Given the description of an element on the screen output the (x, y) to click on. 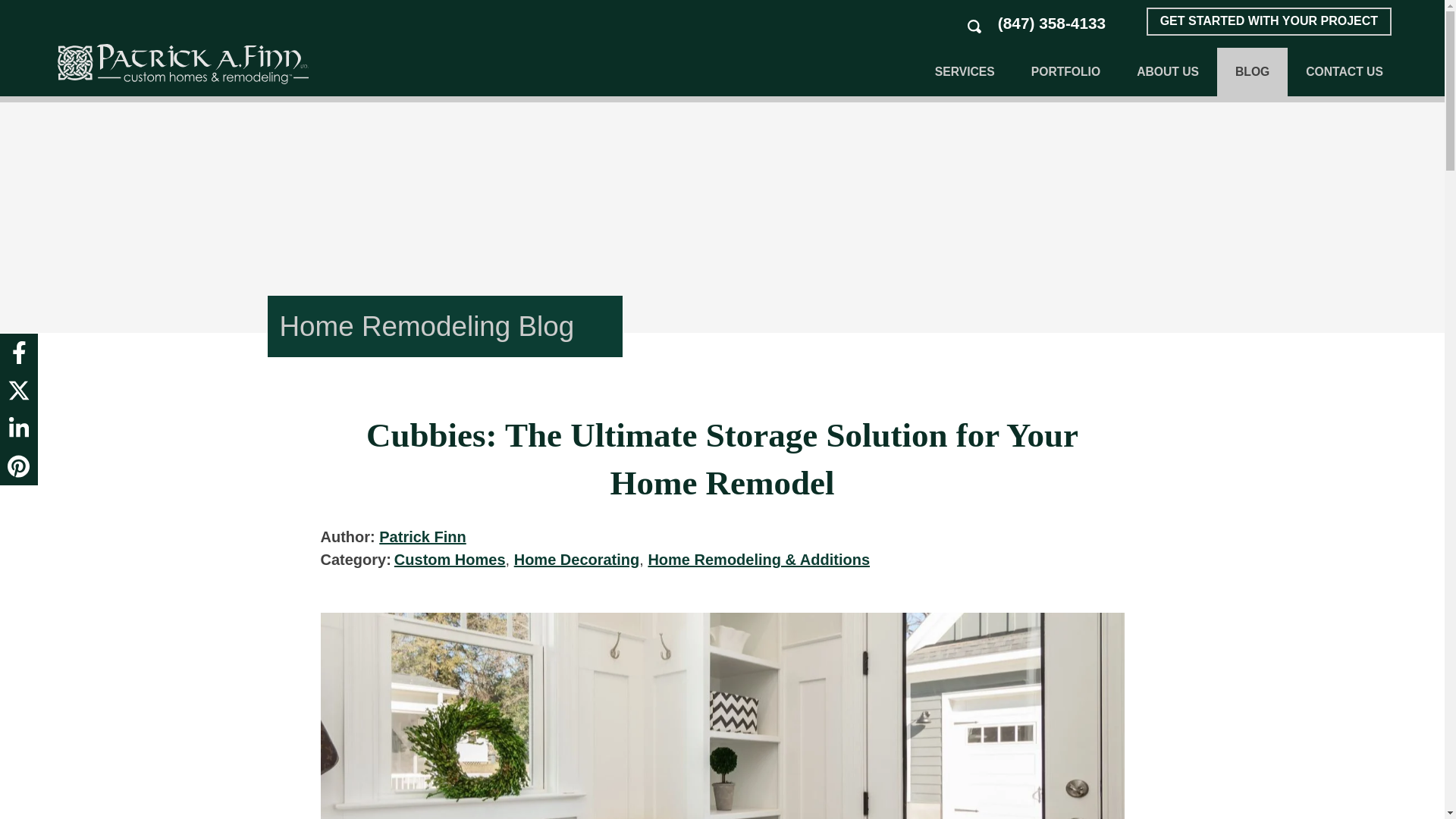
SERVICES (965, 71)
BLOG (1252, 71)
ABOUT US (1167, 71)
Patrick (183, 64)
CONTACT US (1343, 71)
GET STARTED WITH YOUR PROJECT (1269, 21)
PORTFOLIO (1065, 71)
